Given the description of an element on the screen output the (x, y) to click on. 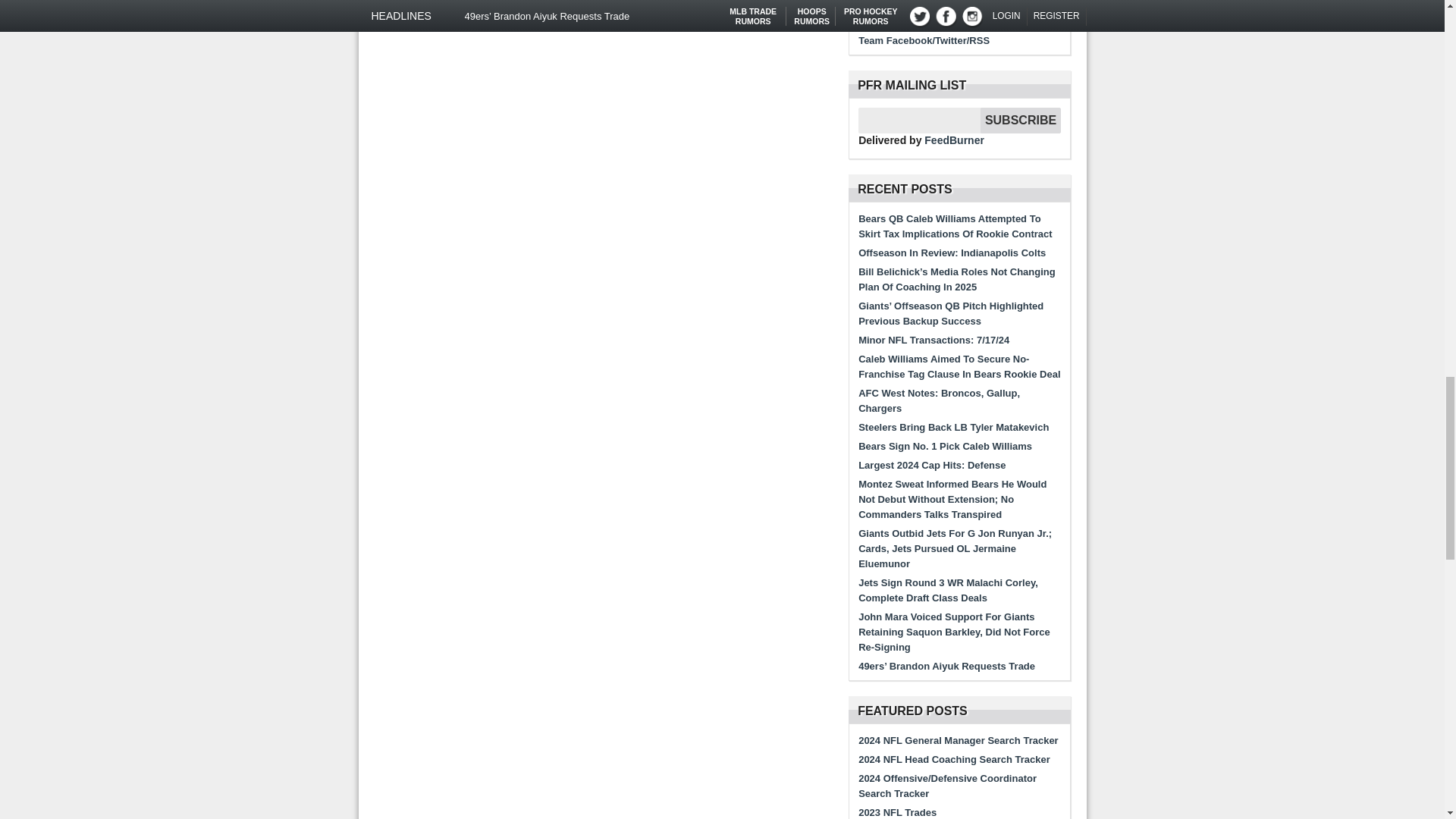
Subscribe (1020, 120)
